Given the description of an element on the screen output the (x, y) to click on. 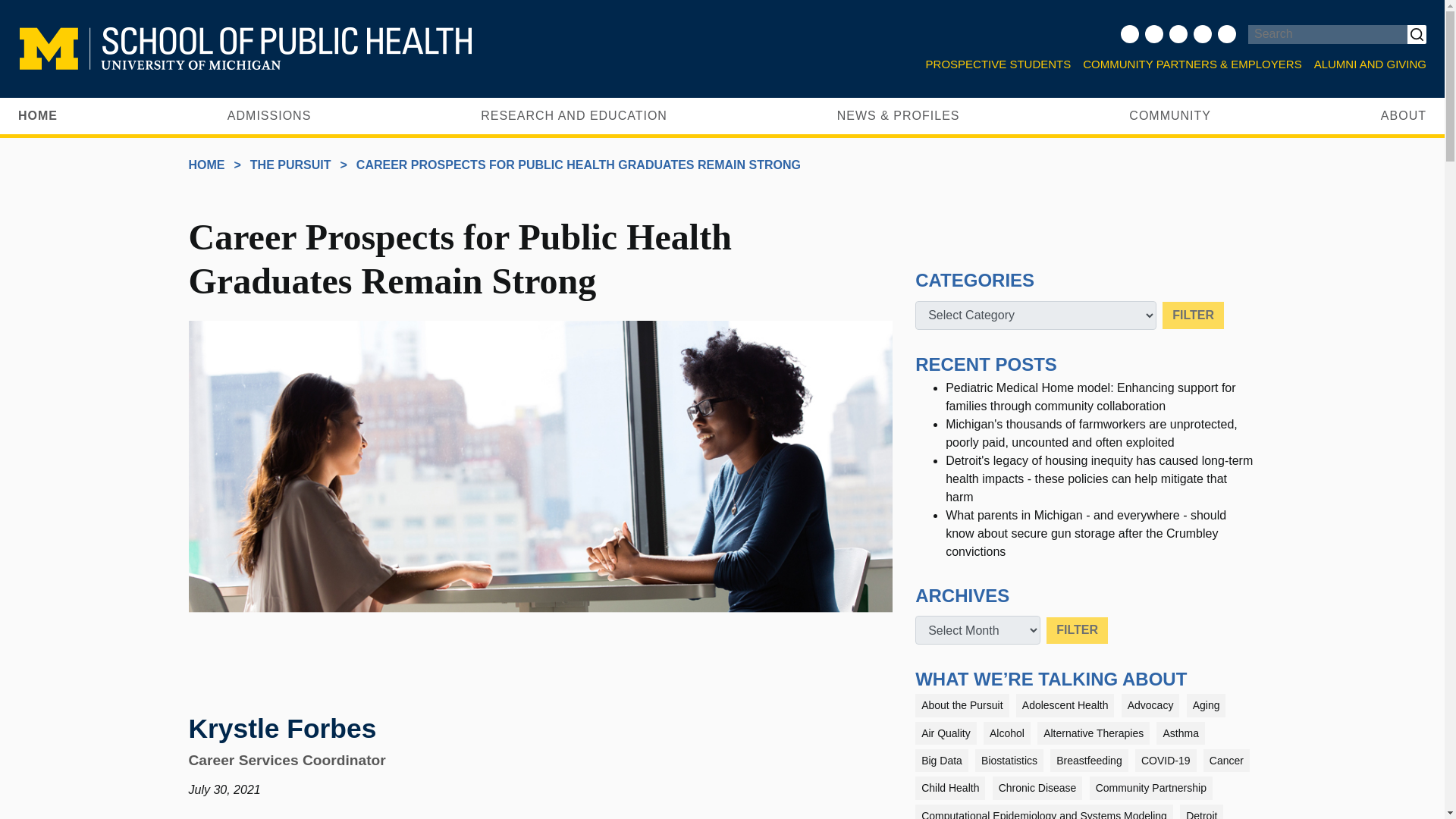
ALUMNI AND GIVING (1366, 64)
HOME (37, 115)
ADMISSIONS (269, 115)
PROSPECTIVE STUDENTS (998, 64)
RESEARCH AND EDUCATION (573, 115)
